Given the description of an element on the screen output the (x, y) to click on. 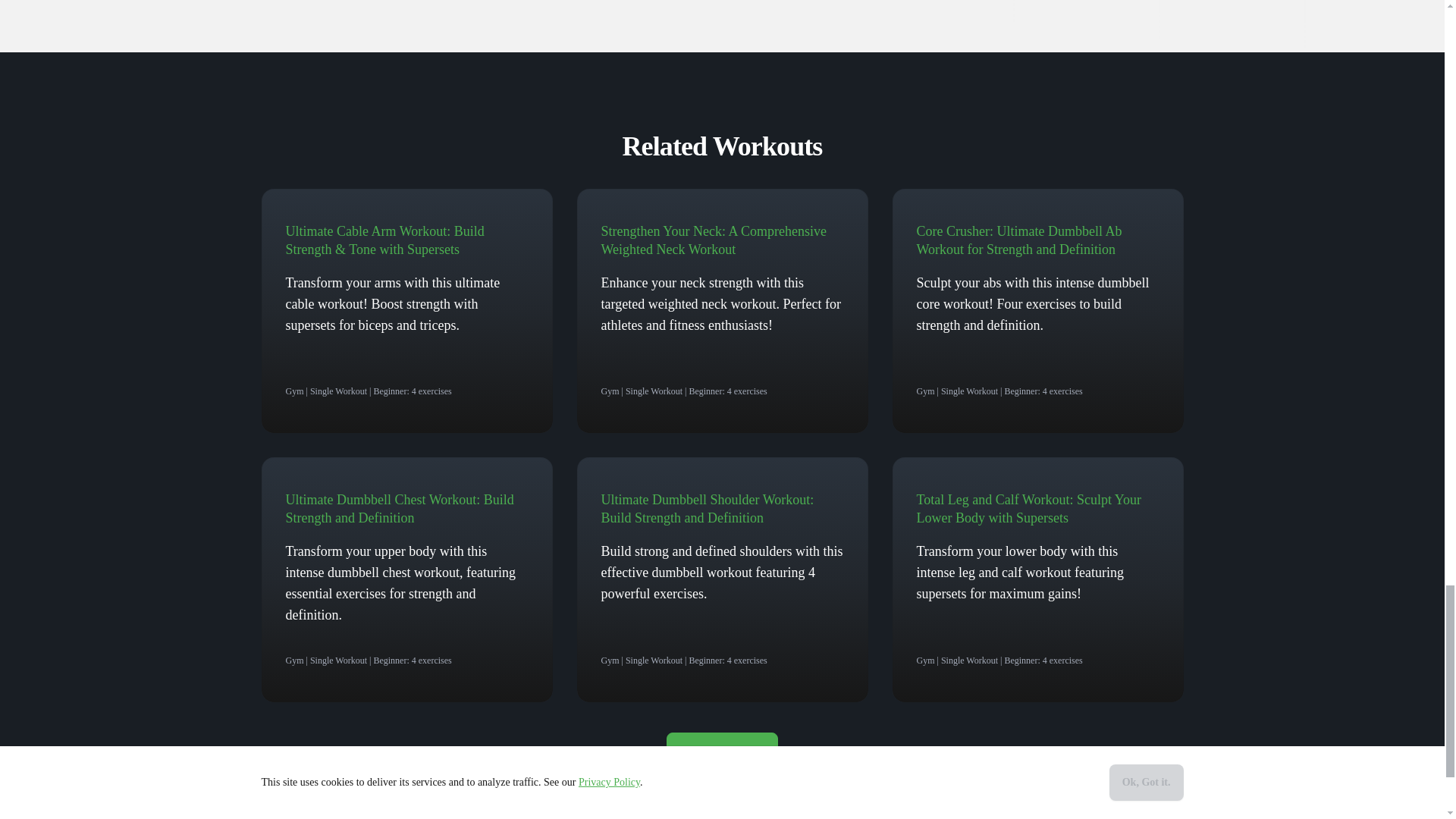
View All Workouts (721, 750)
Strengthen Your Neck: A Comprehensive Weighted Neck Workout (712, 240)
